Given the description of an element on the screen output the (x, y) to click on. 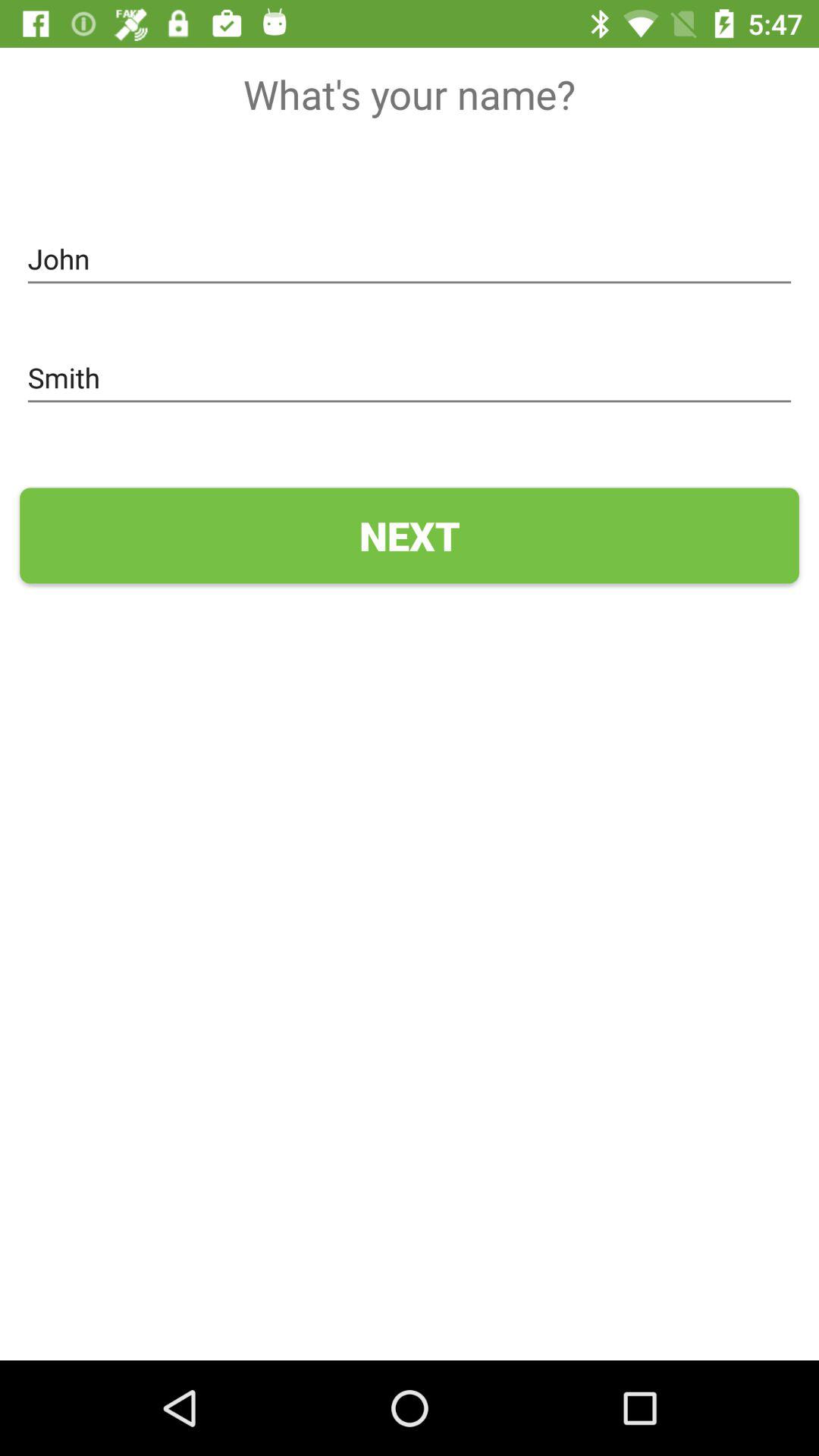
open the john (409, 259)
